Given the description of an element on the screen output the (x, y) to click on. 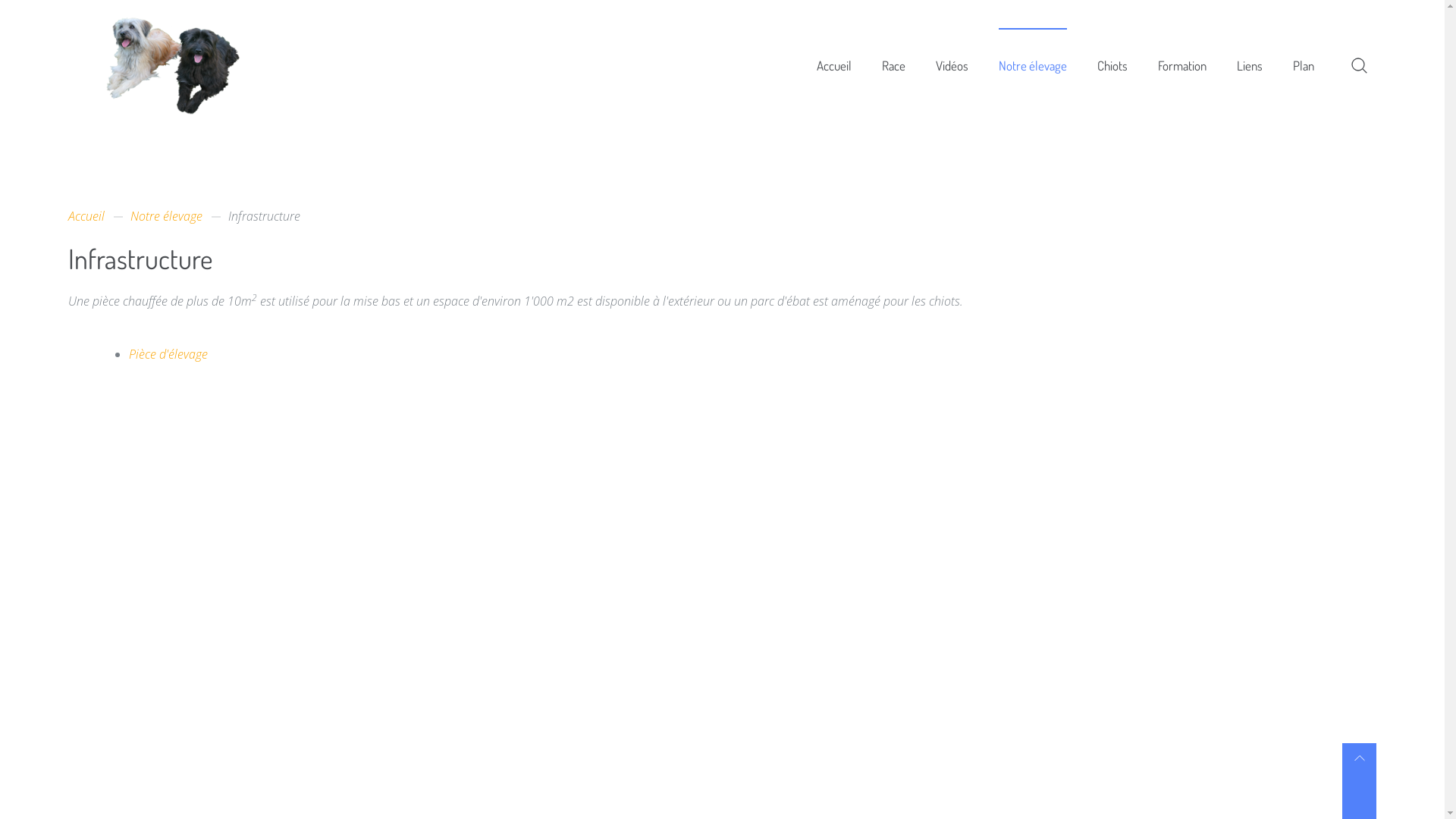
Accueil Element type: text (833, 65)
Liens Element type: text (1249, 65)
Race Element type: text (893, 65)
Accueil Element type: hover (199, 64)
Formation Element type: text (1181, 65)
Accueil Element type: text (86, 215)
Accueil Element type: hover (199, 65)
Plan Element type: text (1303, 65)
Chiots Element type: text (1112, 65)
